Given the description of an element on the screen output the (x, y) to click on. 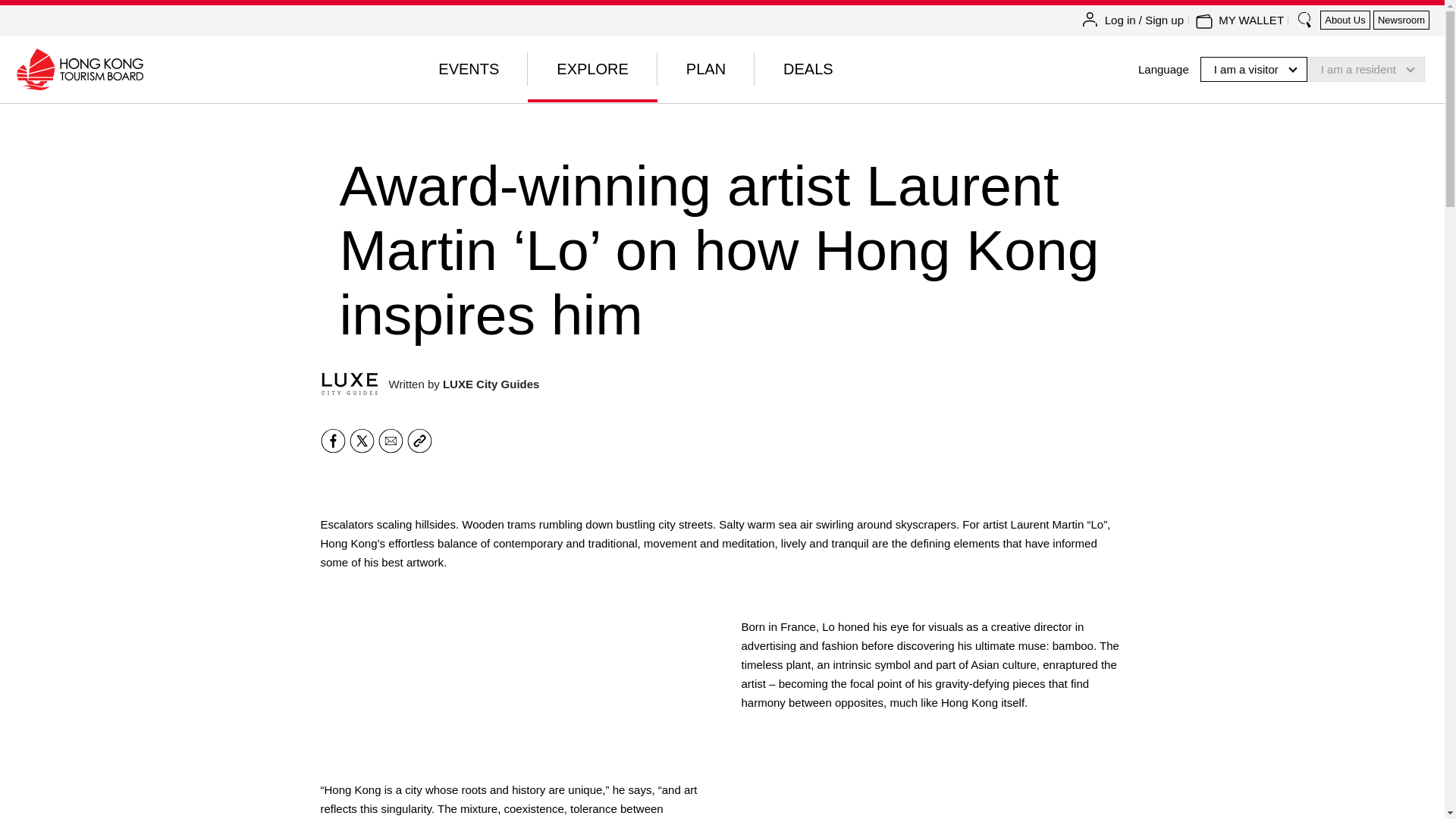
Newsroom (1401, 19)
Hong Kong Tourism Board (79, 68)
EXPLORE (591, 69)
About Us (1345, 19)
PLAN (706, 69)
LUXE City Guides (348, 383)
MY WALLET (1251, 20)
